Given the description of an element on the screen output the (x, y) to click on. 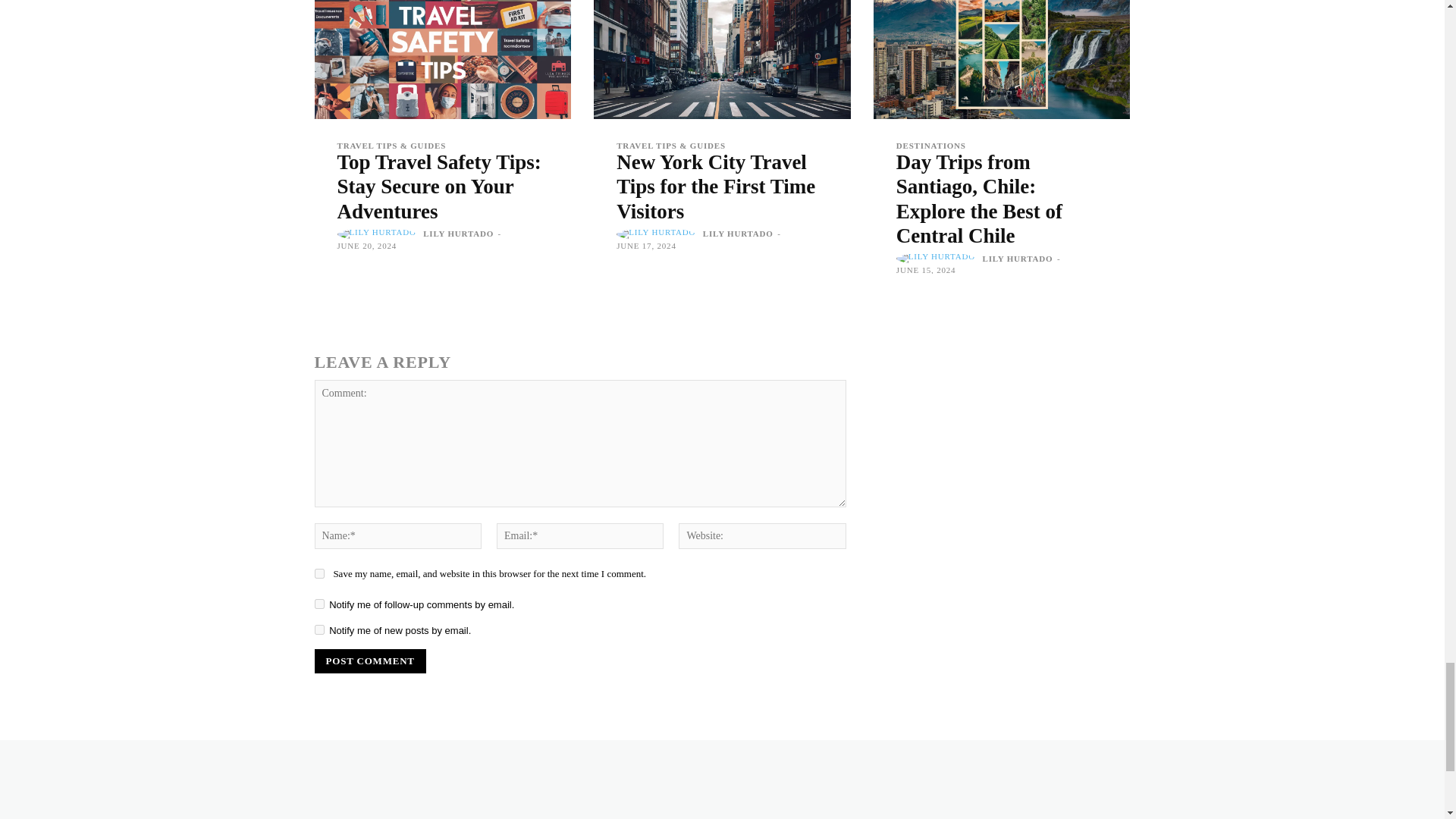
Post Comment (369, 661)
subscribe (318, 603)
subscribe (318, 629)
yes (318, 573)
